Given the description of an element on the screen output the (x, y) to click on. 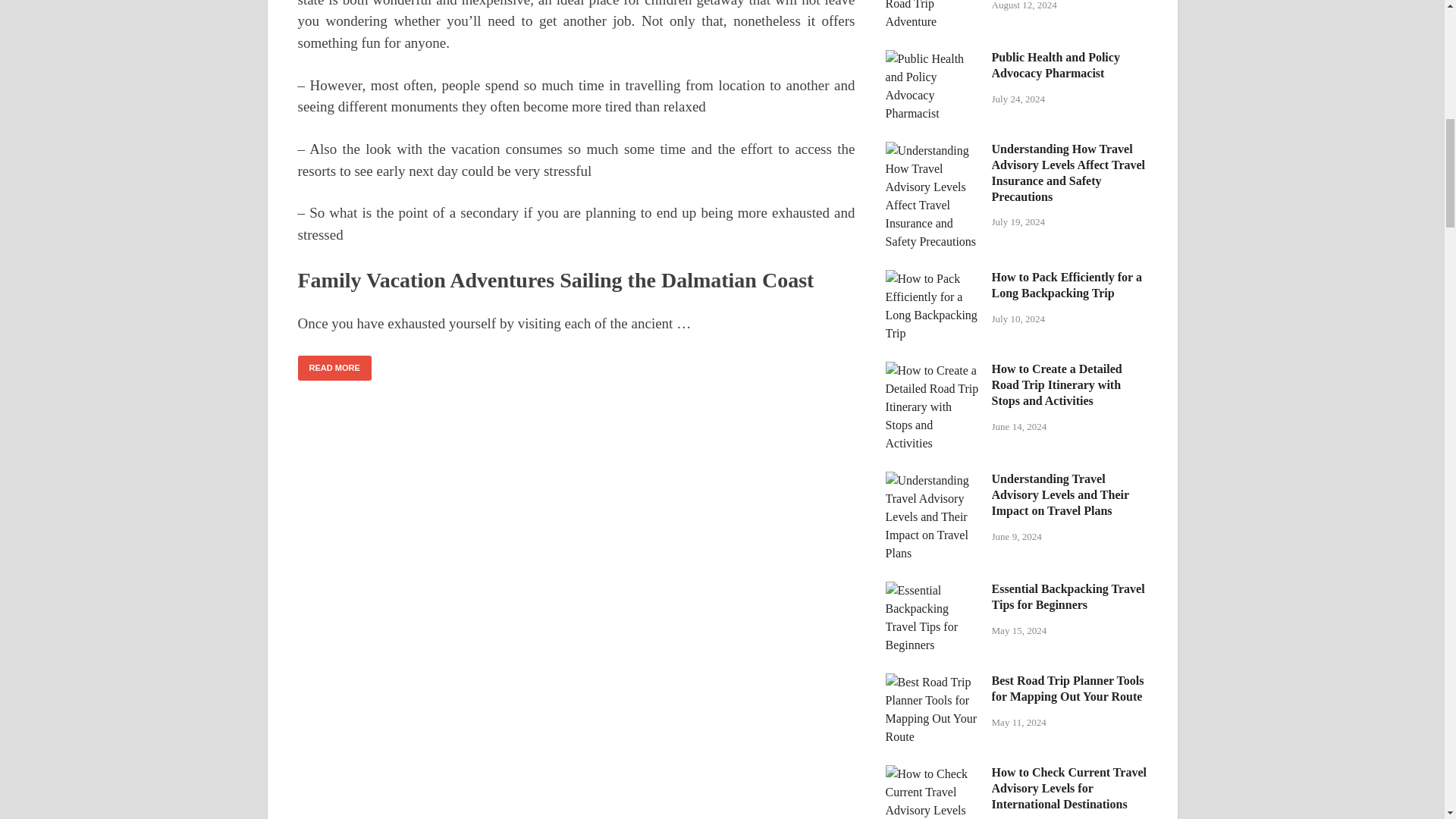
Public Health and Policy Advocacy Pharmacist (932, 58)
Essential Backpacking Travel Tips for Beginners (932, 590)
How to Pack Efficiently for a Long Backpacking Trip (932, 278)
Best Road Trip Planner Tools for Mapping Out Your Route (932, 681)
